Given the description of an element on the screen output the (x, y) to click on. 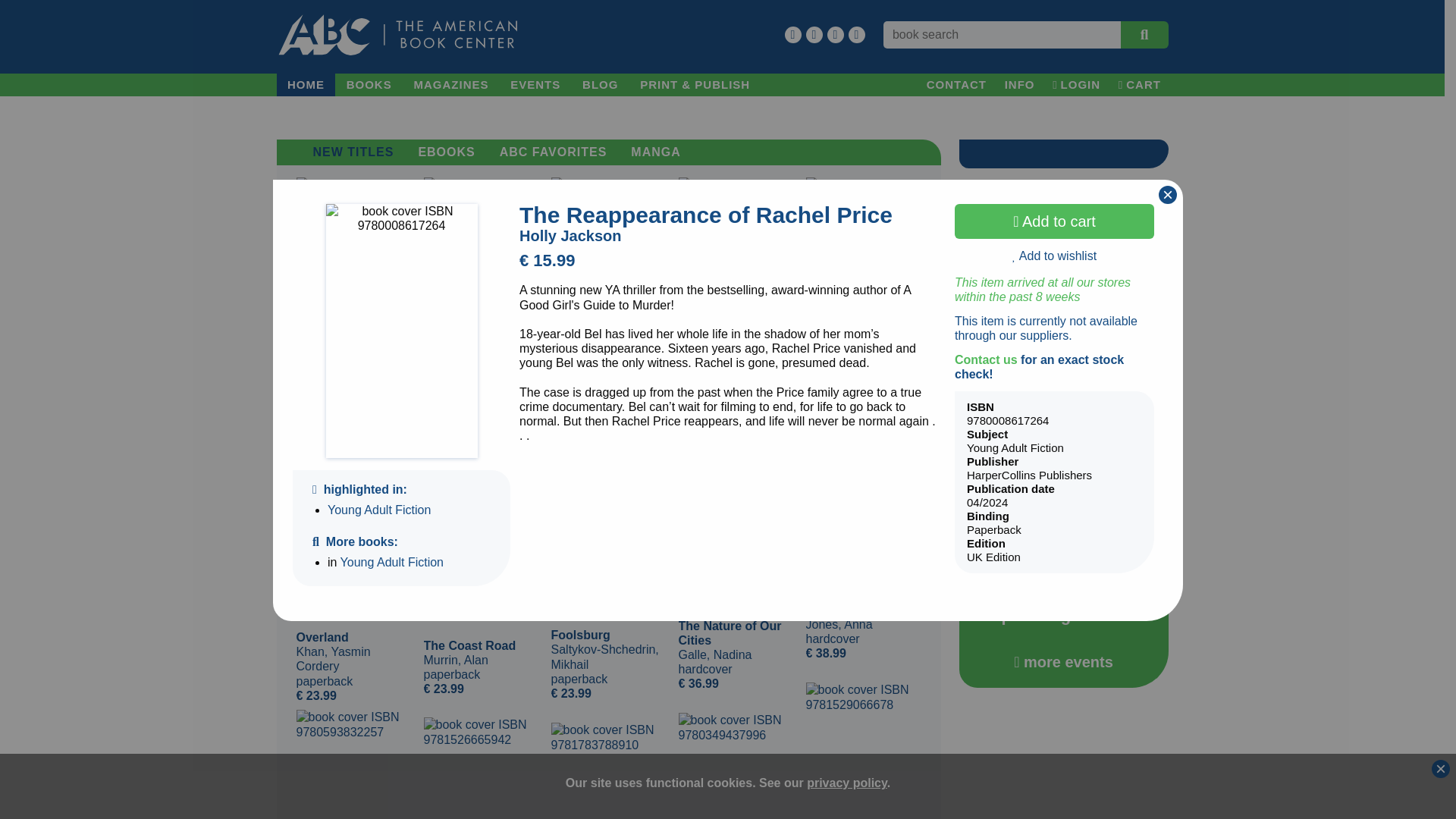
MAGAZINES (451, 84)
BLOG (600, 84)
Love Unwritten (735, 765)
Misrecognition (480, 768)
HOME (305, 84)
BOOKS (368, 84)
INFO (1019, 84)
Team (352, 764)
CART (1138, 84)
CONTACT (955, 84)
EVENTS (535, 84)
The American Book Center (397, 34)
Splinters (607, 770)
LOGIN (1076, 84)
